Given the description of an element on the screen output the (x, y) to click on. 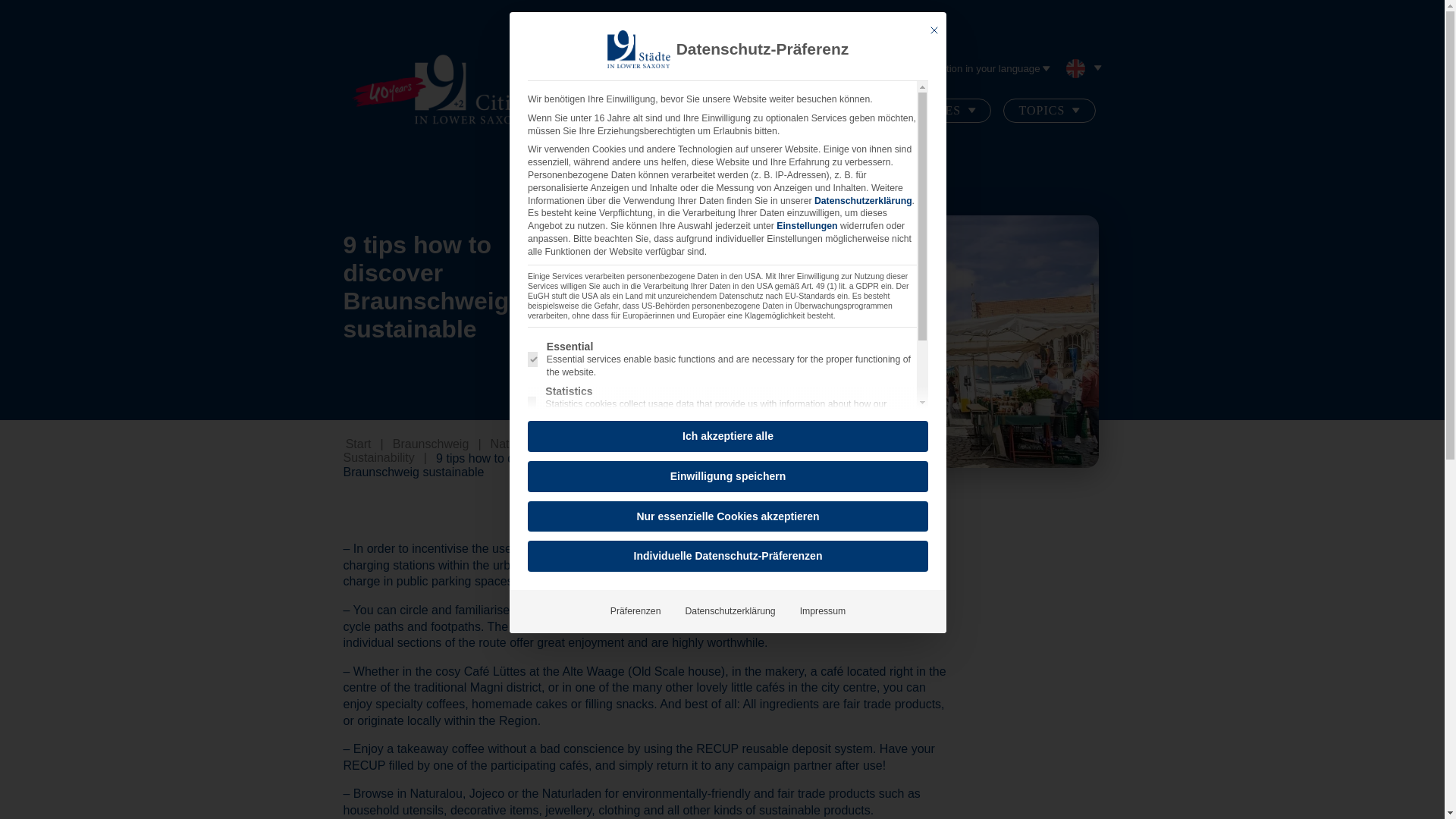
Search (850, 67)
EVENTS OVERVIEW (813, 110)
CITIES (946, 110)
Information in your language (980, 67)
TOPICS (1048, 110)
